Given the description of an element on the screen output the (x, y) to click on. 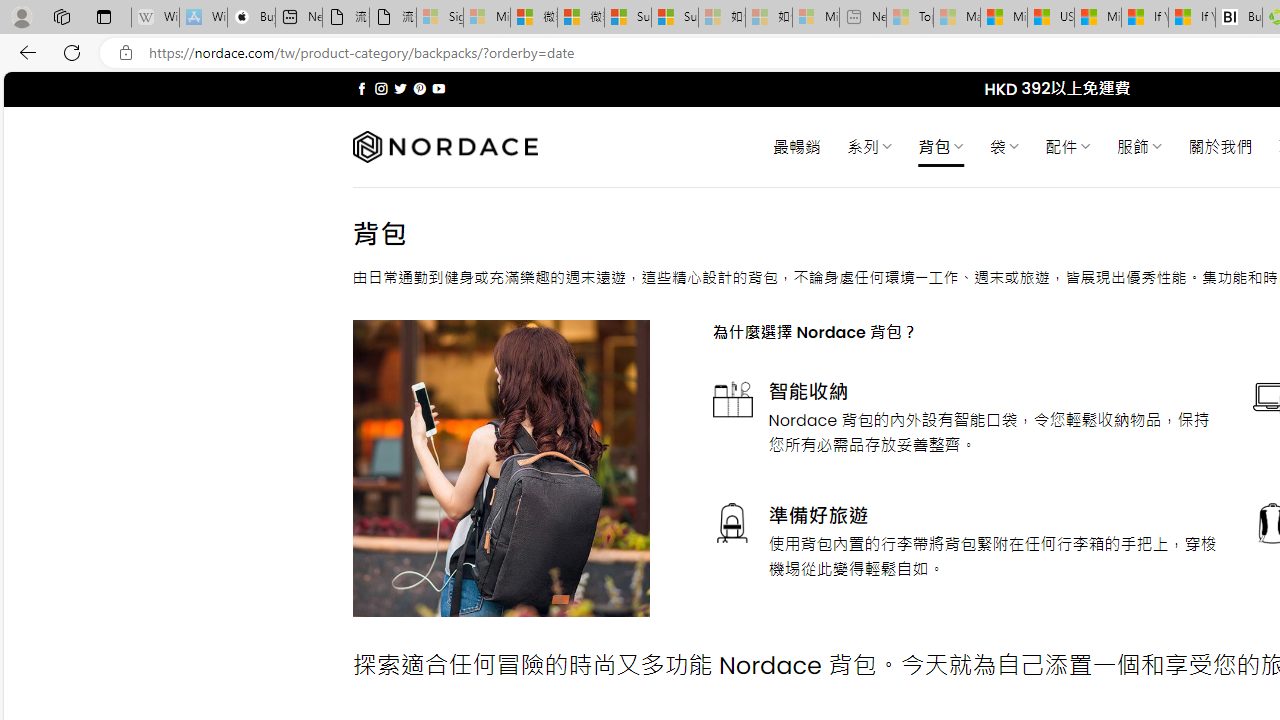
Buy iPad - Apple (251, 17)
Follow on YouTube (438, 88)
Microsoft account | Account Checkup - Sleeping (815, 17)
New tab - Sleeping (862, 17)
Wikipedia - Sleeping (155, 17)
